Given the description of an element on the screen output the (x, y) to click on. 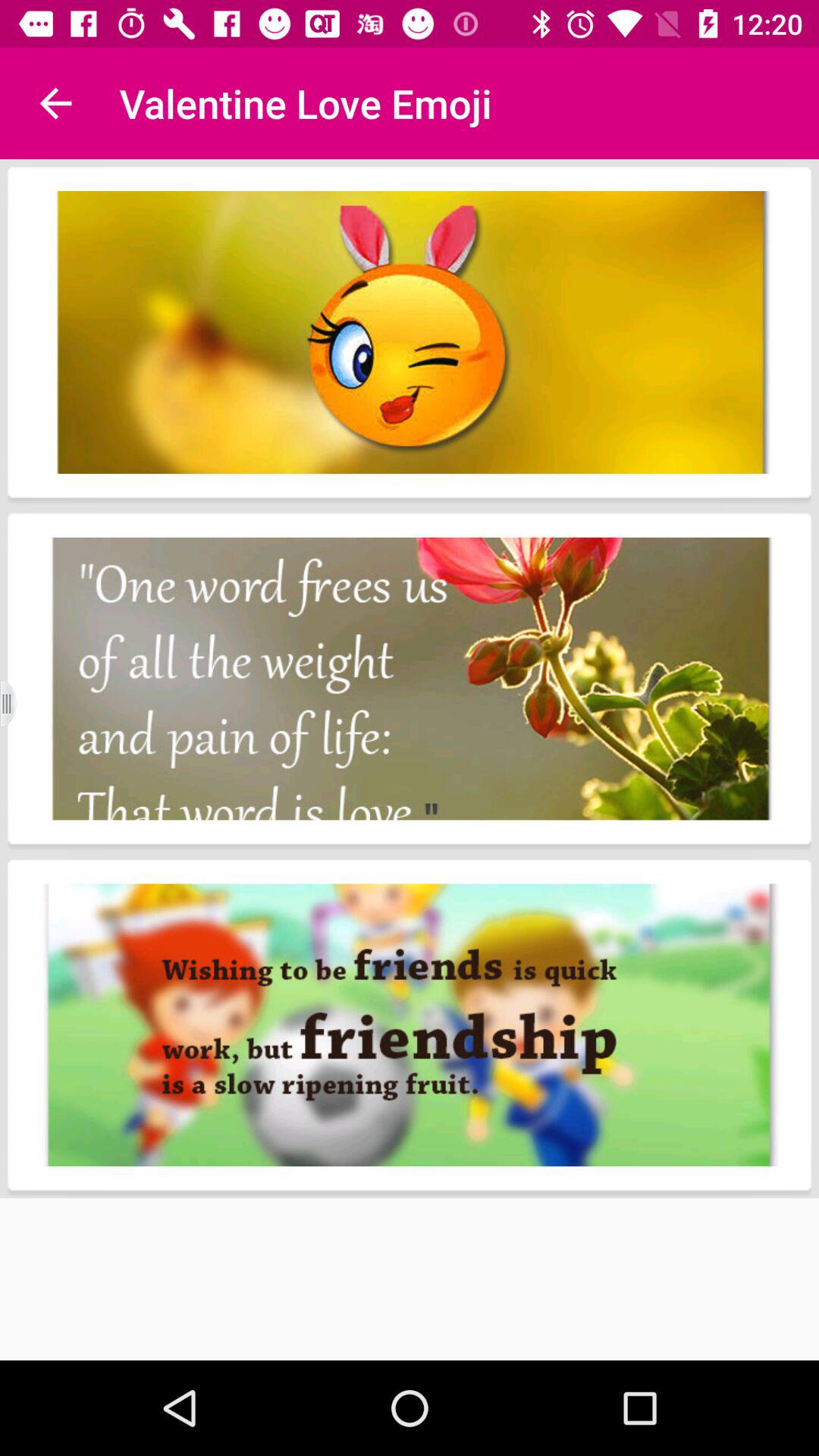
turn off the item at the top left corner (55, 103)
